Given the description of an element on the screen output the (x, y) to click on. 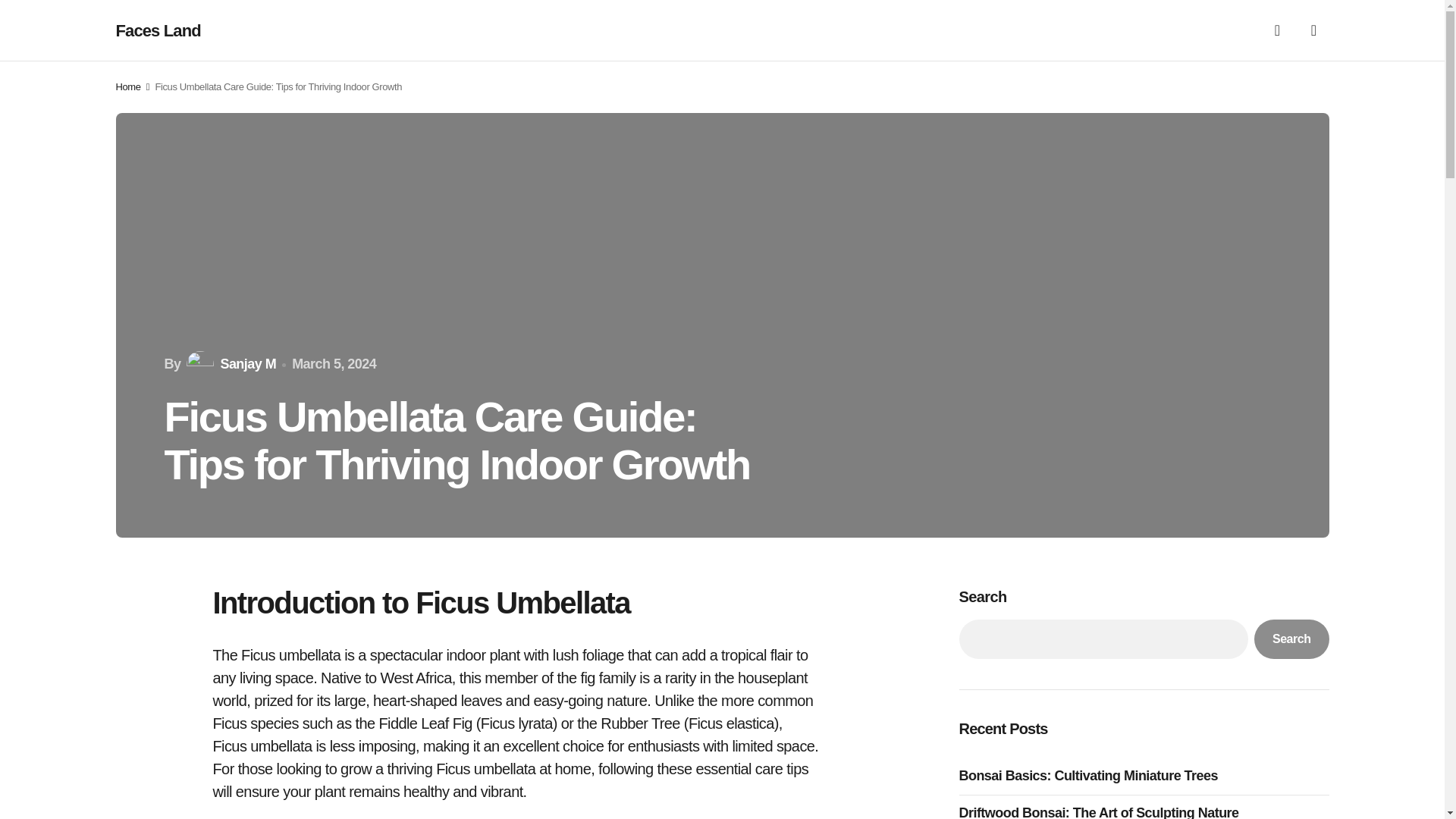
Home (127, 86)
Search (1291, 638)
Sanjay M (229, 364)
Driftwood Bonsai: The Art of Sculpting Nature (1102, 811)
Faces Land (157, 30)
Bonsai Basics: Cultivating Miniature Trees (1091, 775)
